Given the description of an element on the screen output the (x, y) to click on. 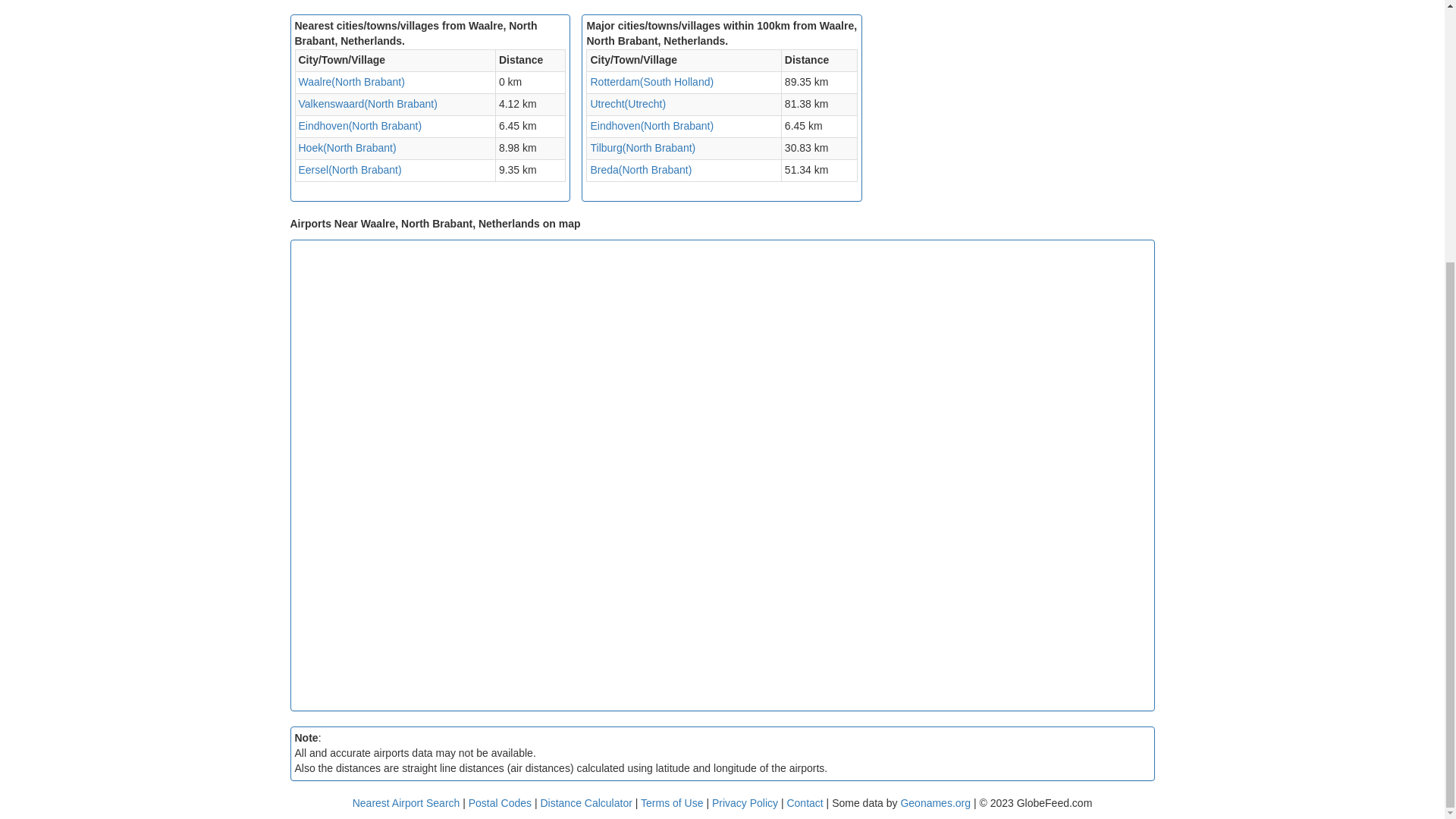
Airports near Eersel, North Brabant, Netherlands (349, 169)
Airports near Breda, North Brabant, Netherlands (640, 169)
Airports near Tilburg, North Brabant, Netherlands (642, 147)
Distance Calculator (585, 802)
Geonames.org (935, 802)
Contact (804, 802)
Airports near Hoek, North Brabant, Netherlands (347, 147)
Terms of Use (673, 802)
Postal Codes (499, 802)
Airports near Rotterdam, South Holland, Netherlands (651, 81)
